Given the description of an element on the screen output the (x, y) to click on. 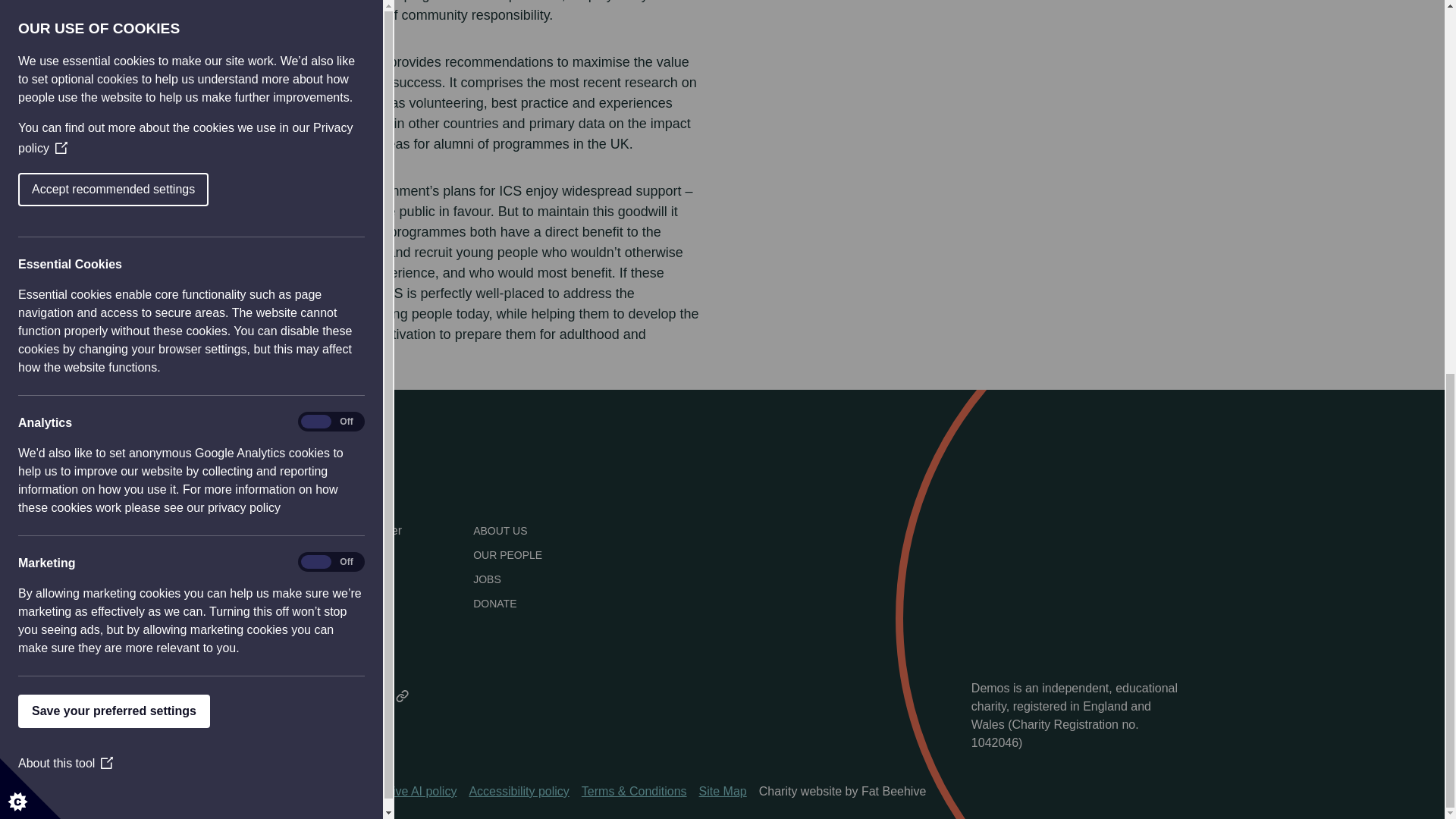
Link (402, 696)
Mail (359, 696)
Twitter (274, 695)
Linkedin (317, 696)
